Given the description of an element on the screen output the (x, y) to click on. 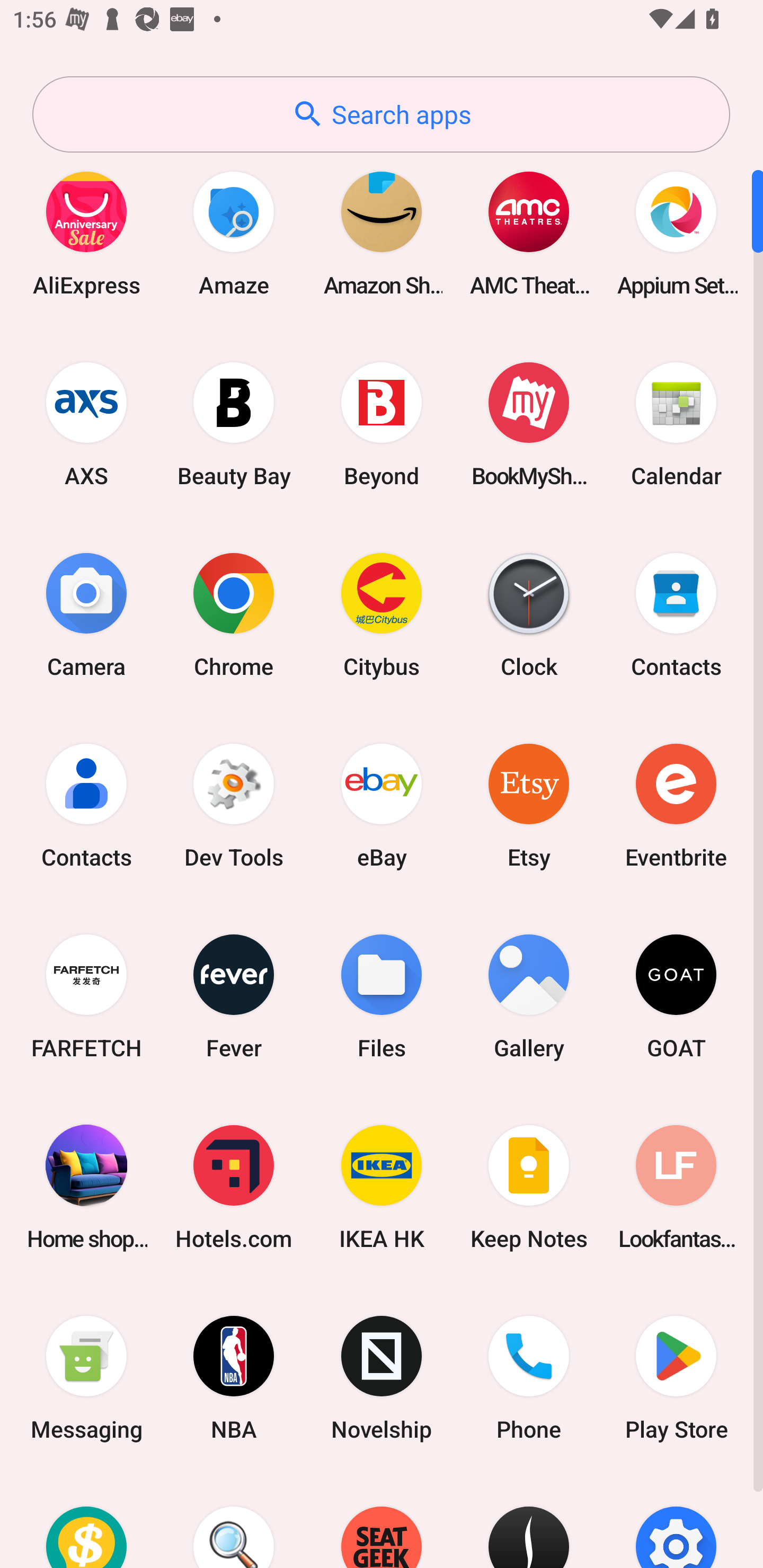
  Search apps (381, 114)
AliExpress (86, 233)
Amaze (233, 233)
Amazon Shopping (381, 233)
AMC Theatres (528, 233)
Appium Settings (676, 233)
AXS (86, 424)
Beauty Bay (233, 424)
Beyond (381, 424)
BookMyShow (528, 424)
Calendar (676, 424)
Camera (86, 614)
Chrome (233, 614)
Citybus (381, 614)
Clock (528, 614)
Contacts (676, 614)
Contacts (86, 805)
Dev Tools (233, 805)
eBay (381, 805)
Etsy (528, 805)
Eventbrite (676, 805)
FARFETCH (86, 996)
Fever (233, 996)
Files (381, 996)
Gallery (528, 996)
GOAT (676, 996)
Home shopping (86, 1186)
Hotels.com (233, 1186)
IKEA HK (381, 1186)
Keep Notes (528, 1186)
Lookfantastic (676, 1186)
Messaging (86, 1377)
NBA (233, 1377)
Novelship (381, 1377)
Phone (528, 1377)
Play Store (676, 1377)
